Given the description of an element on the screen output the (x, y) to click on. 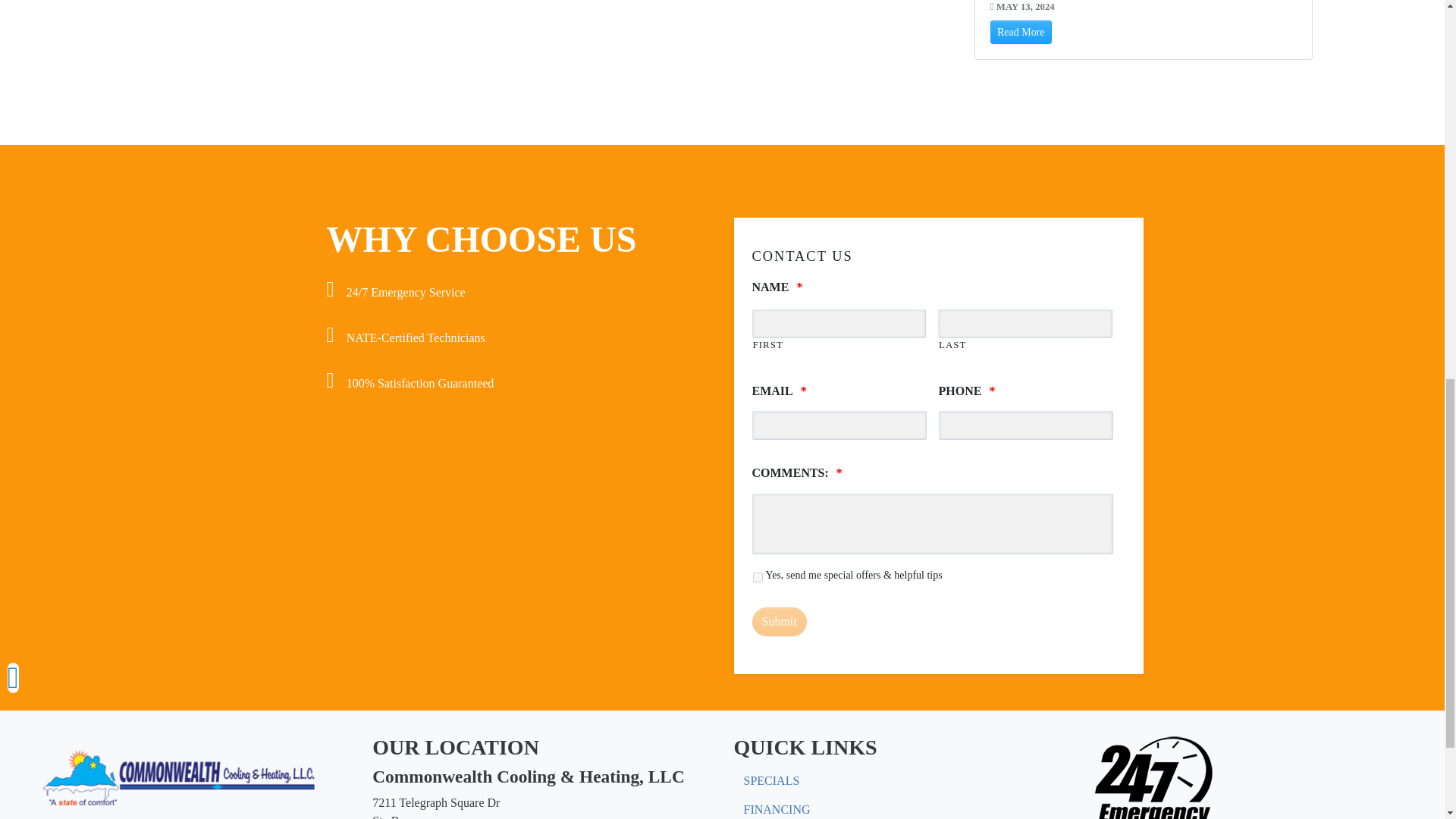
Submit (779, 621)
Read More (1020, 32)
SPECIALS (771, 780)
